Given the description of an element on the screen output the (x, y) to click on. 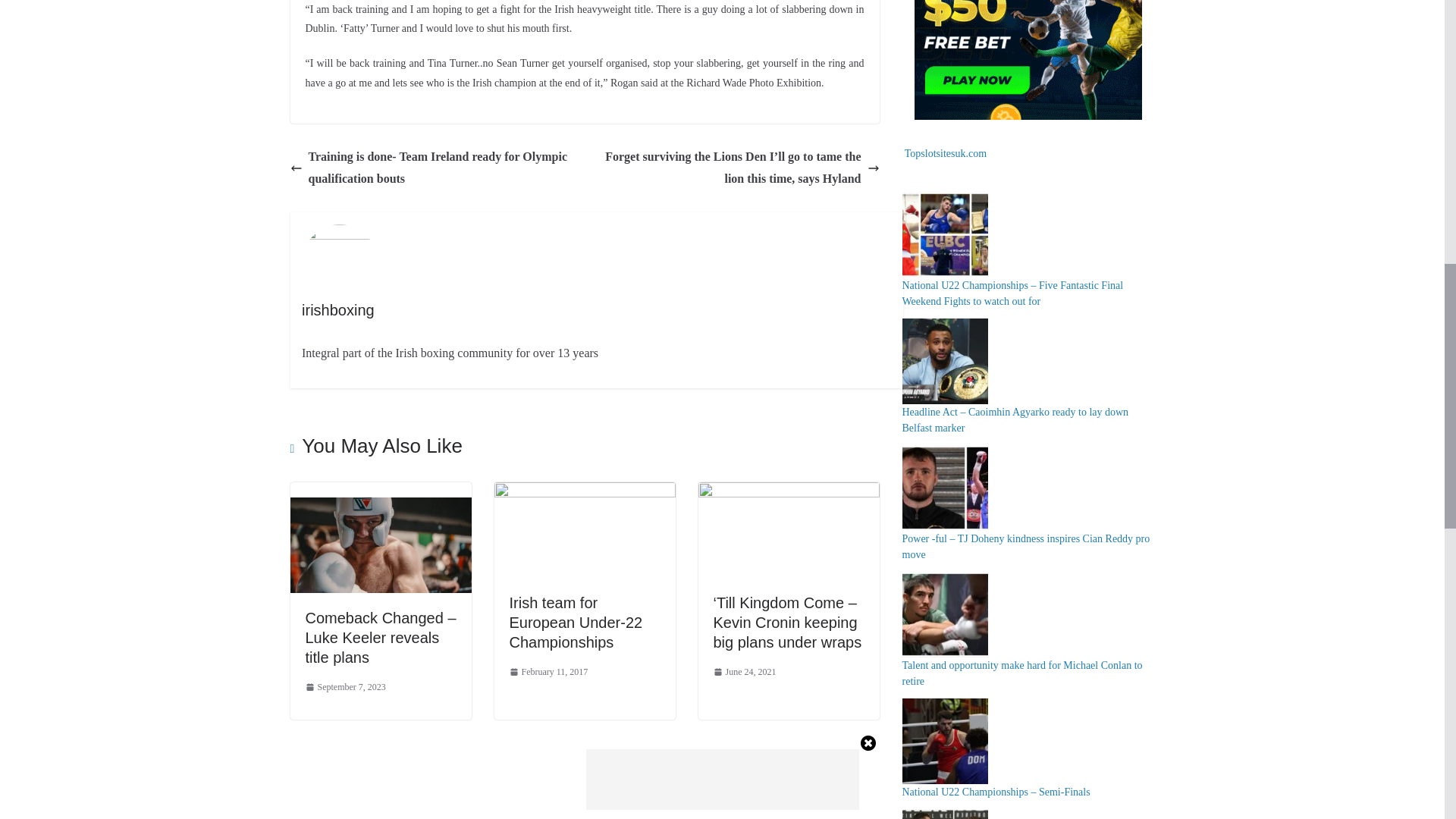
June 24, 2021 (744, 672)
Irish team for European Under-22 Championships (576, 622)
Irish team for European Under-22 Championships (576, 622)
12:19 pm (344, 687)
3:07 pm (548, 672)
Irish team for European Under-22 Championships (585, 492)
February 11, 2017 (548, 672)
September 7, 2023 (344, 687)
6:03 am (744, 672)
